Given the description of an element on the screen output the (x, y) to click on. 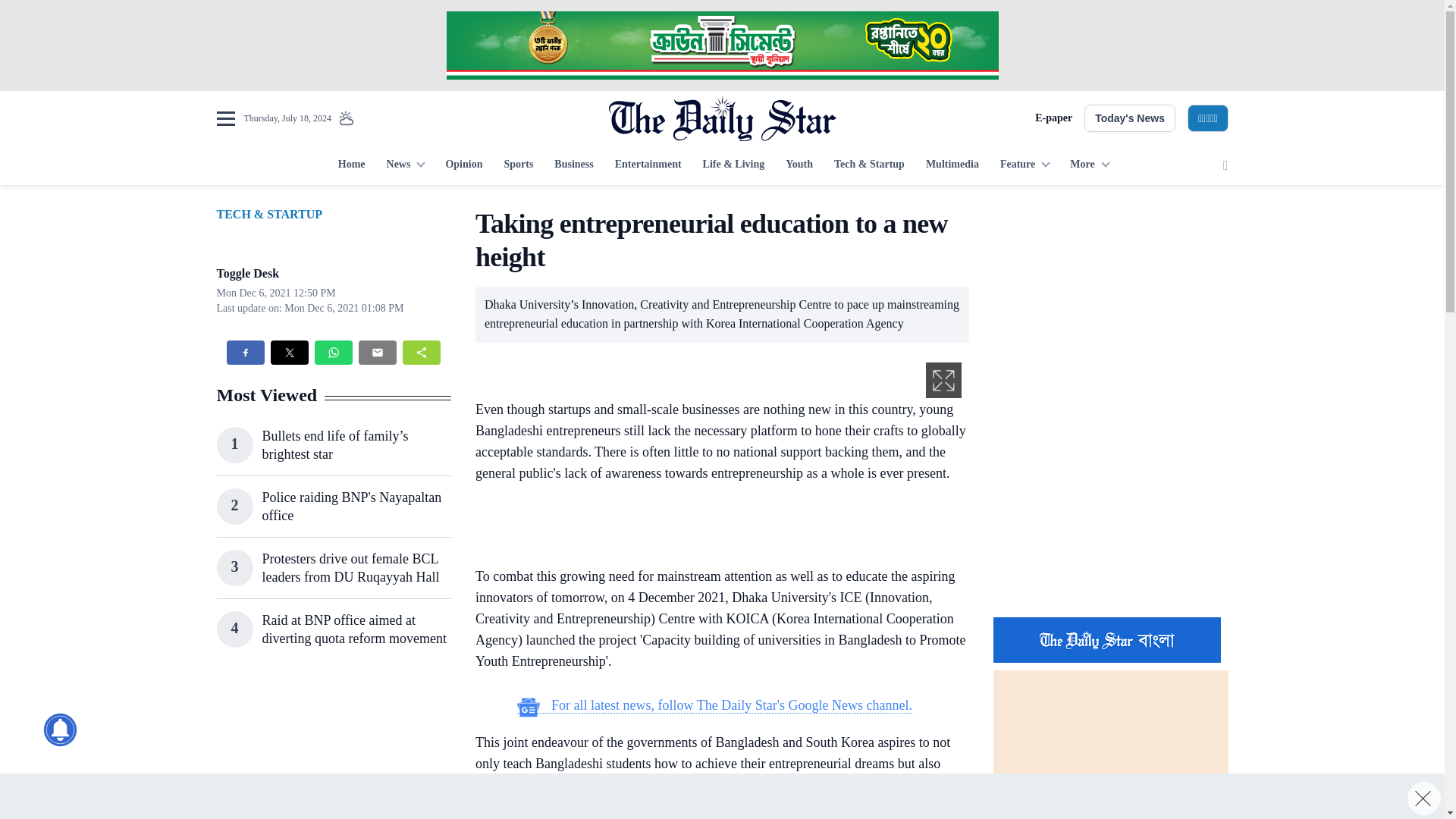
Opinion (463, 165)
Business (573, 165)
3rd party ad content (714, 527)
Youth (799, 165)
Sports (518, 165)
Feature (1024, 165)
E-paper (1053, 117)
3rd party ad content (721, 796)
Multimedia (952, 165)
Today's News (1129, 117)
3rd party ad content (332, 749)
3rd party ad content (721, 45)
News (405, 165)
Home (351, 165)
